Given the description of an element on the screen output the (x, y) to click on. 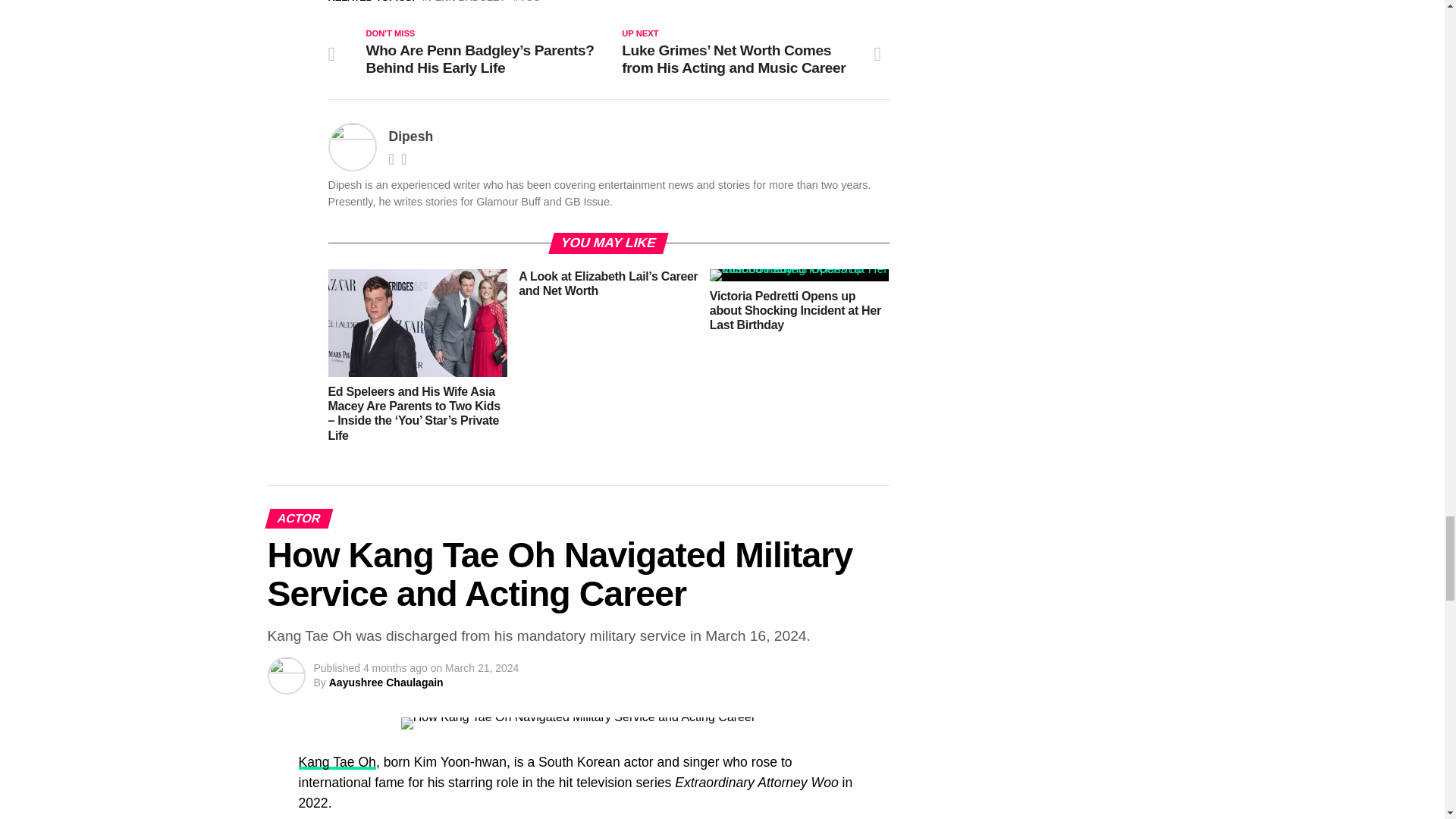
Posts by Dipesh (410, 136)
Posts by Aayushree Chaulagain (386, 682)
